Given the description of an element on the screen output the (x, y) to click on. 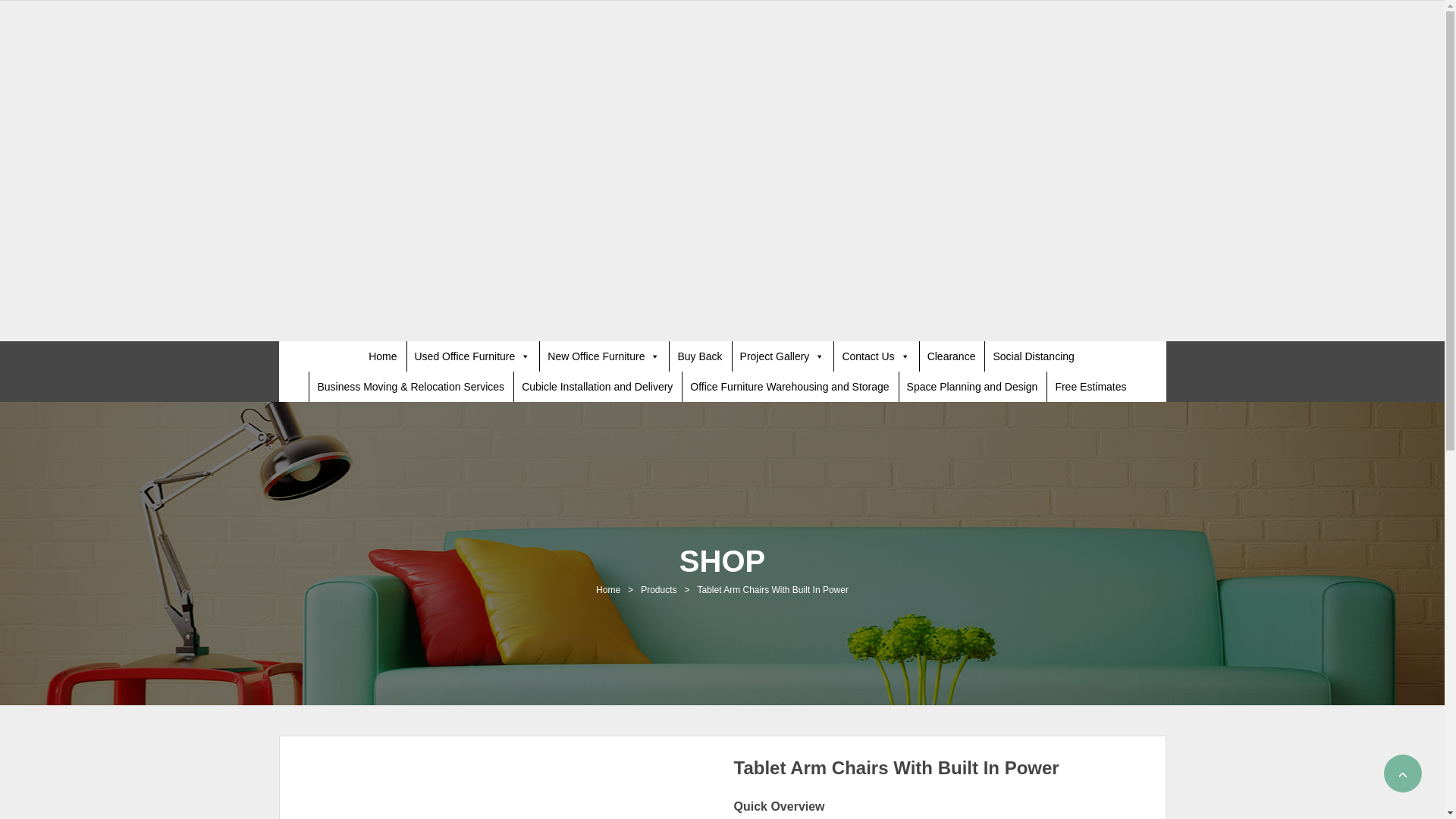
Tablet-Arm-Chairs-With-Built-In-Power-COG-72 (504, 788)
Used Office Furniture (471, 356)
Home (382, 356)
